Given the description of an element on the screen output the (x, y) to click on. 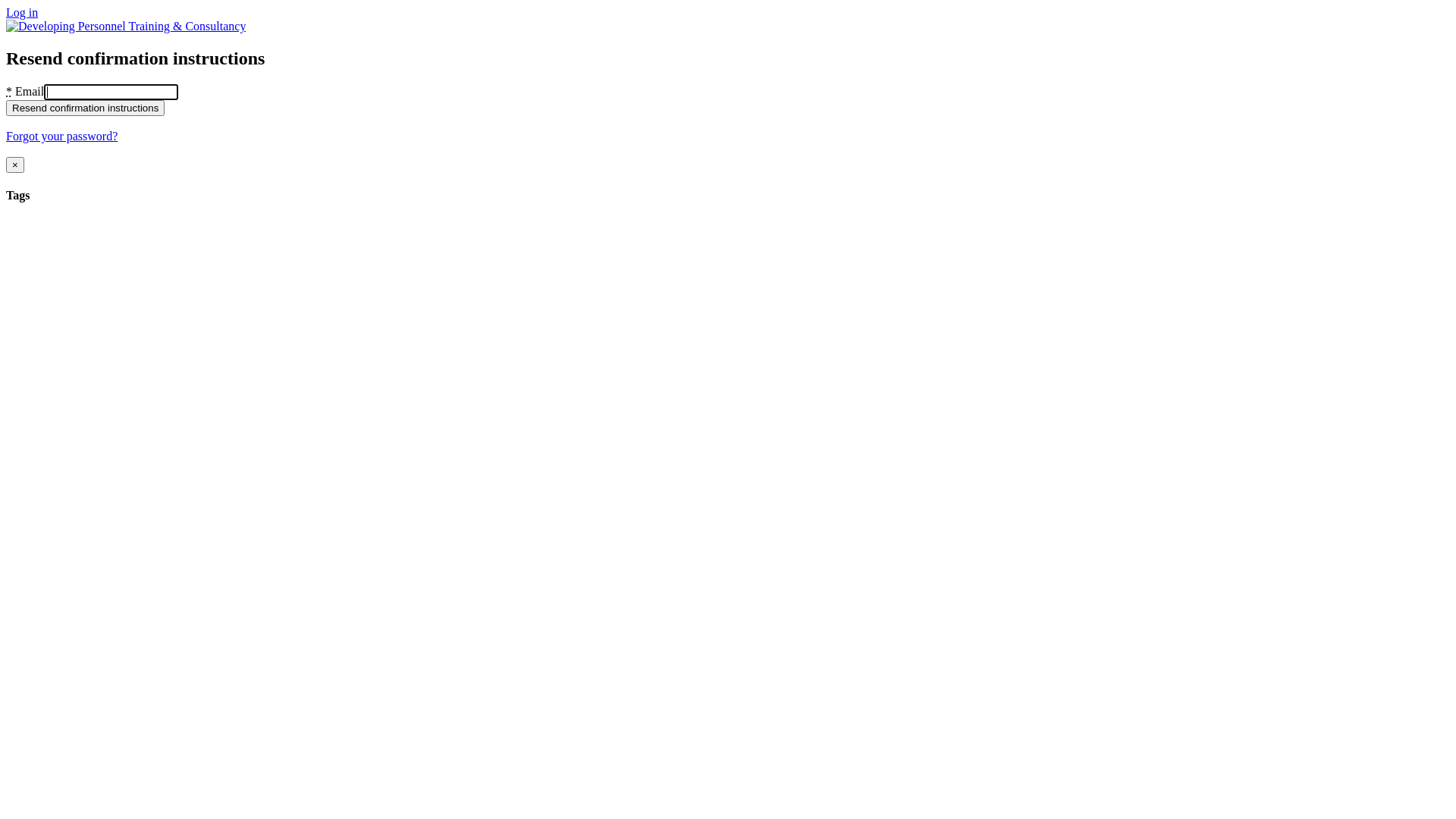
Log in Element type: text (21, 12)
Resend confirmation instructions Element type: text (85, 108)
Forgot your password? Element type: text (61, 135)
